Given the description of an element on the screen output the (x, y) to click on. 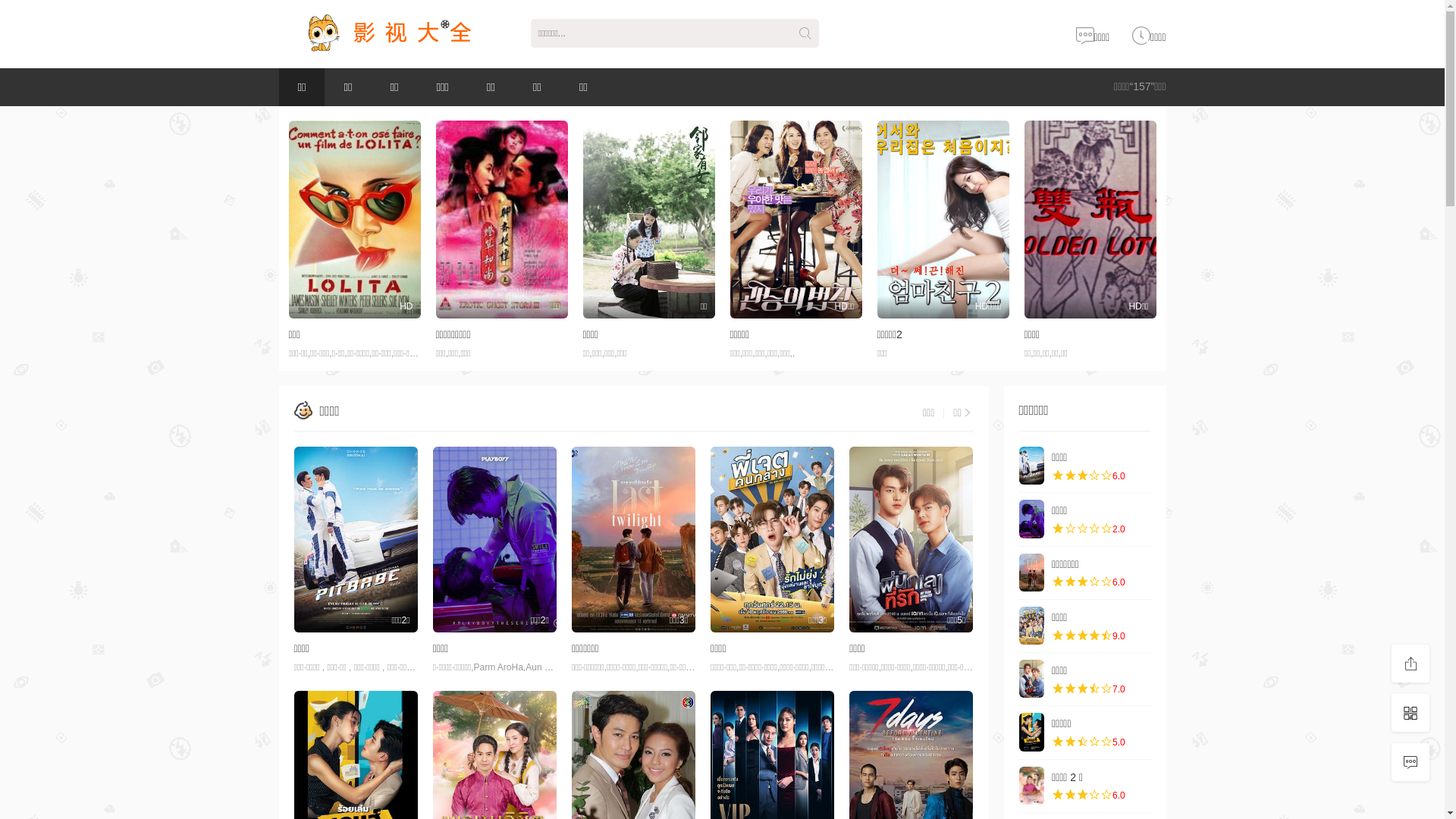
HD Element type: text (354, 219)
